Given the description of an element on the screen output the (x, y) to click on. 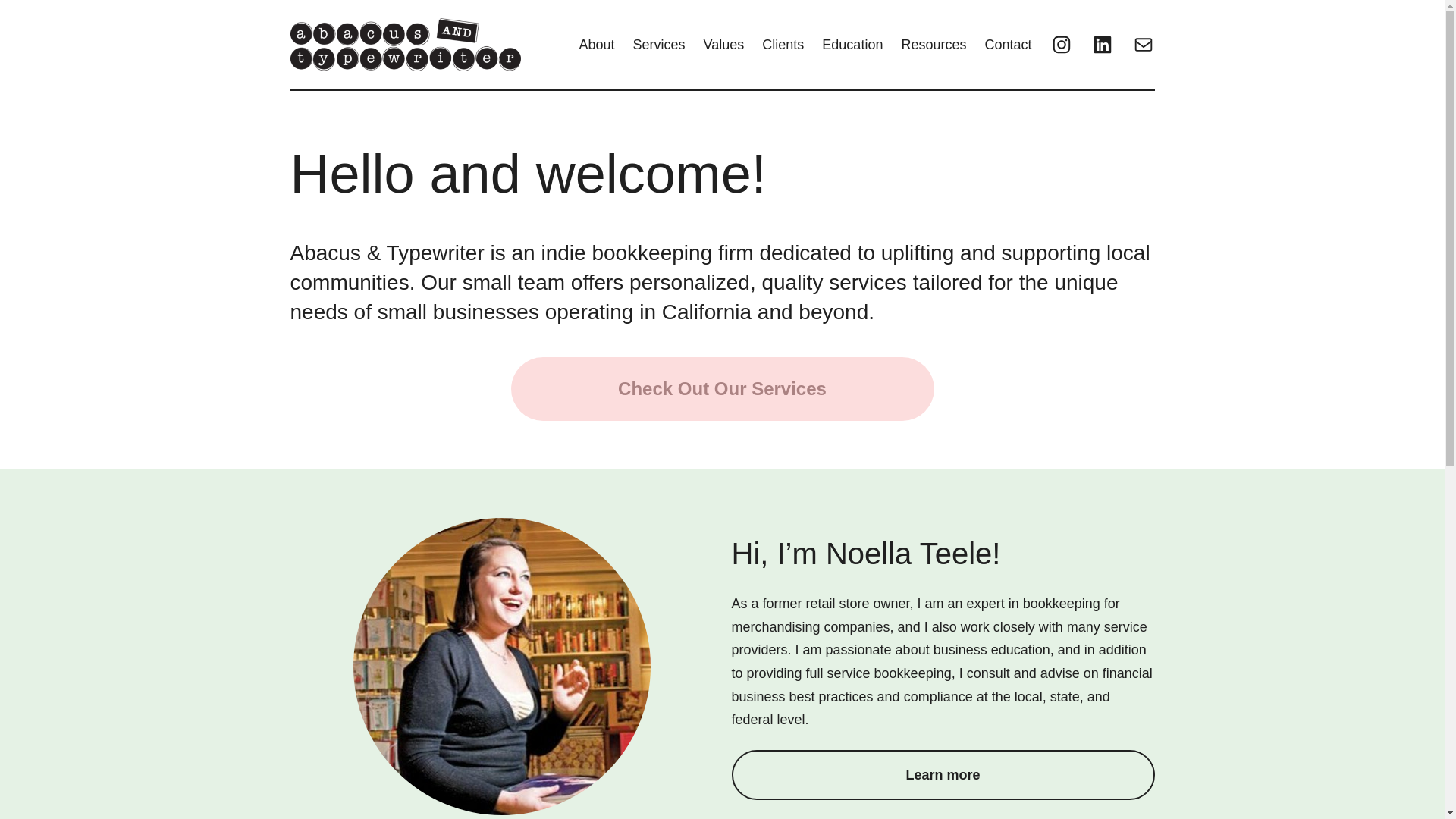
Values (723, 44)
Mail (1142, 44)
LinkedIn (1101, 44)
Education (852, 44)
Services (659, 44)
Clients (782, 44)
Resources (933, 44)
Contact (1007, 44)
Learn more (942, 775)
Instagram (1060, 44)
Check Out Our Services (722, 388)
About (596, 44)
